Given the description of an element on the screen output the (x, y) to click on. 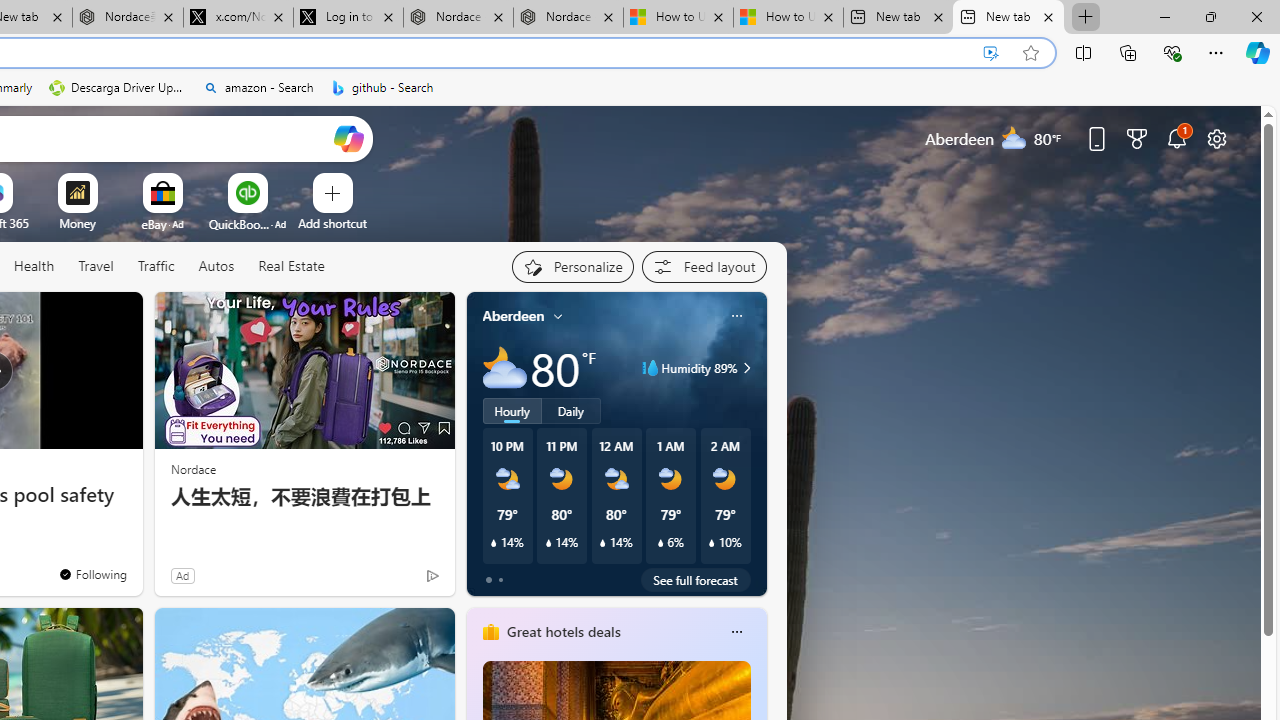
Health (33, 267)
github - Search (381, 88)
Add a site (332, 223)
Mostly cloudy (504, 368)
Page settings (1216, 138)
x.com/NordaceOfficial (238, 17)
